Given the description of an element on the screen output the (x, y) to click on. 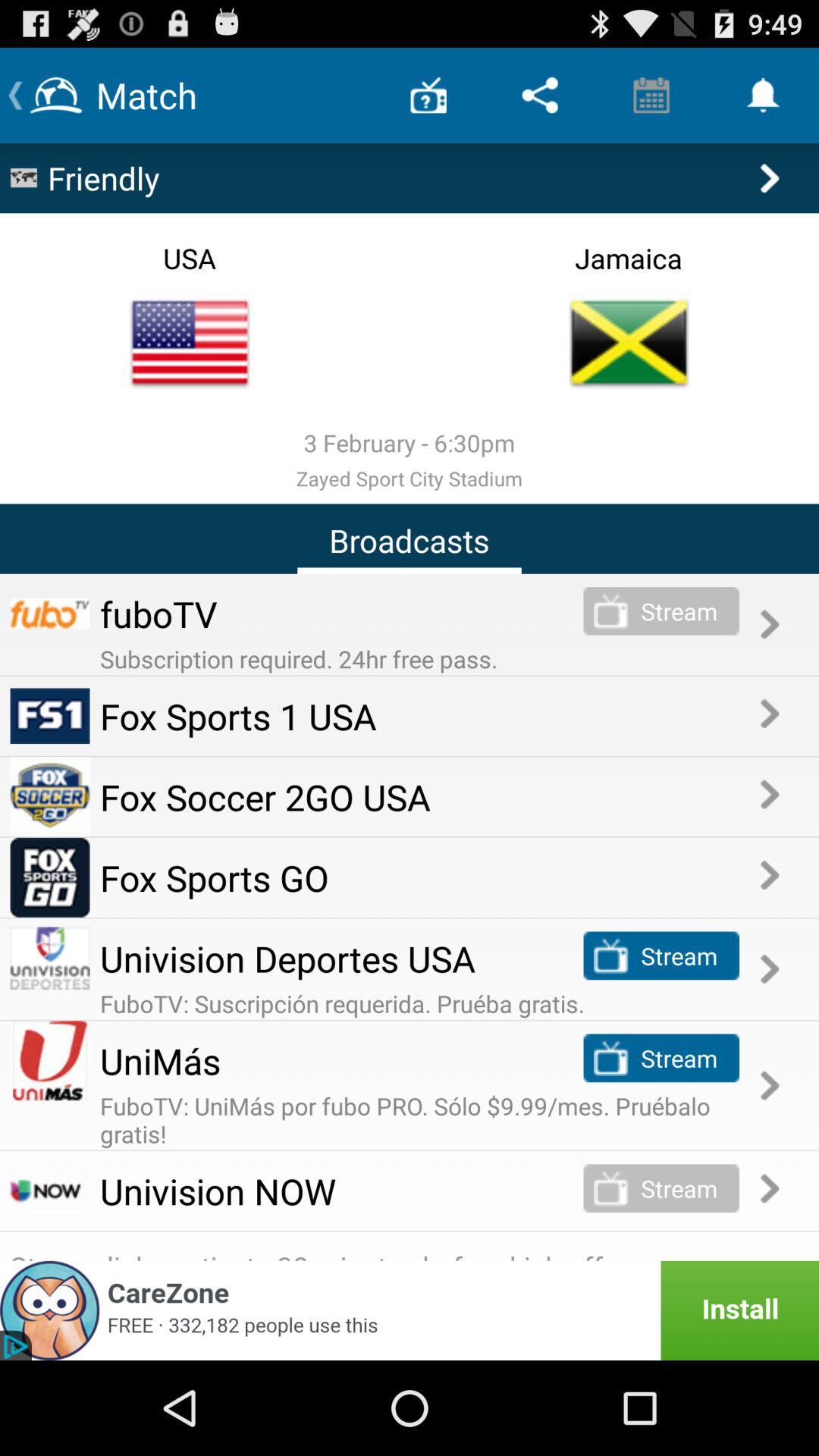
open jamaica team (628, 343)
